Given the description of an element on the screen output the (x, y) to click on. 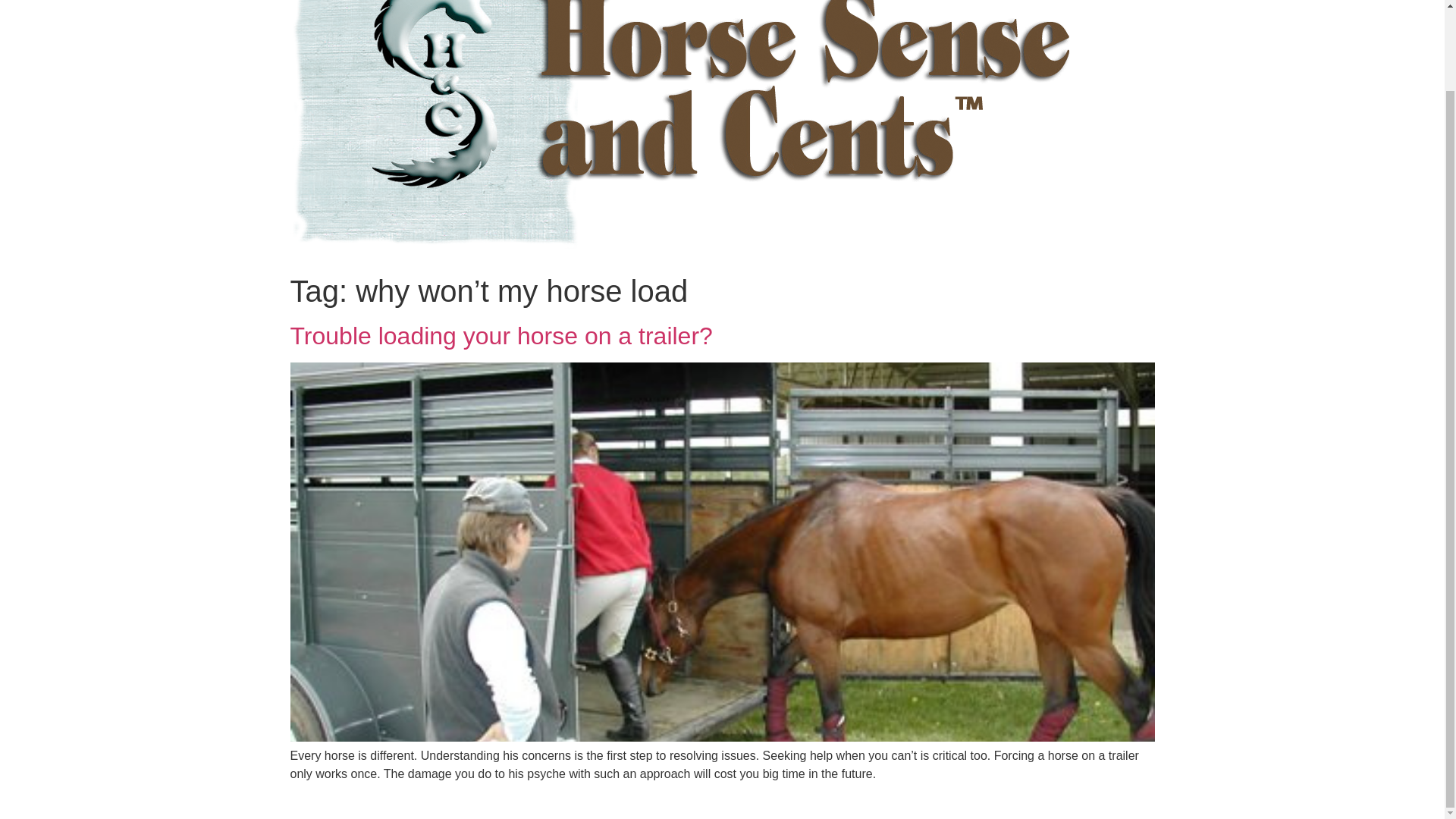
Trouble loading your horse on a trailer? (500, 335)
